Given the description of an element on the screen output the (x, y) to click on. 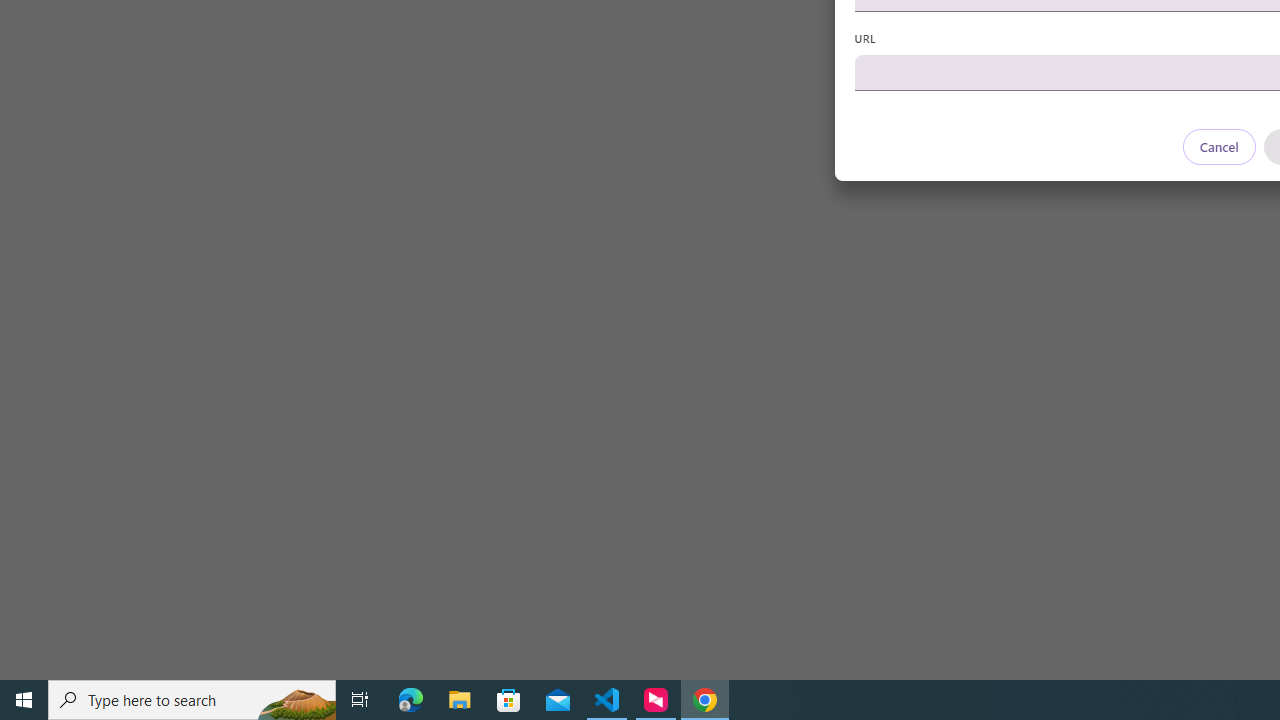
Cancel (1218, 146)
